Given the description of an element on the screen output the (x, y) to click on. 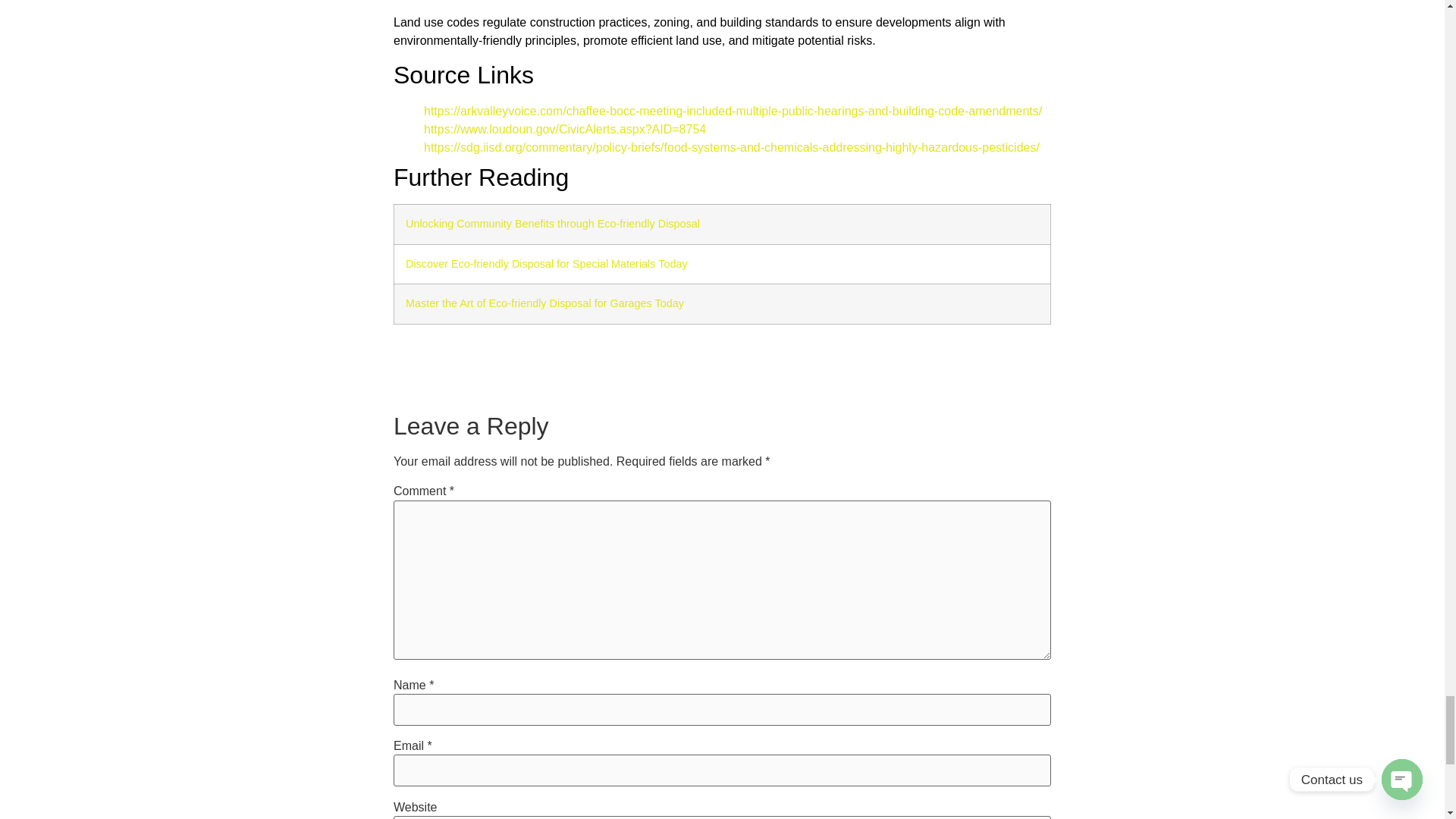
Master the Art of Eco-friendly Disposal for Garages Today (545, 303)
Unlocking Community Benefits through Eco-friendly Disposal (553, 223)
Discover Eco-friendly Disposal for Special Materials Today (546, 263)
